Given the description of an element on the screen output the (x, y) to click on. 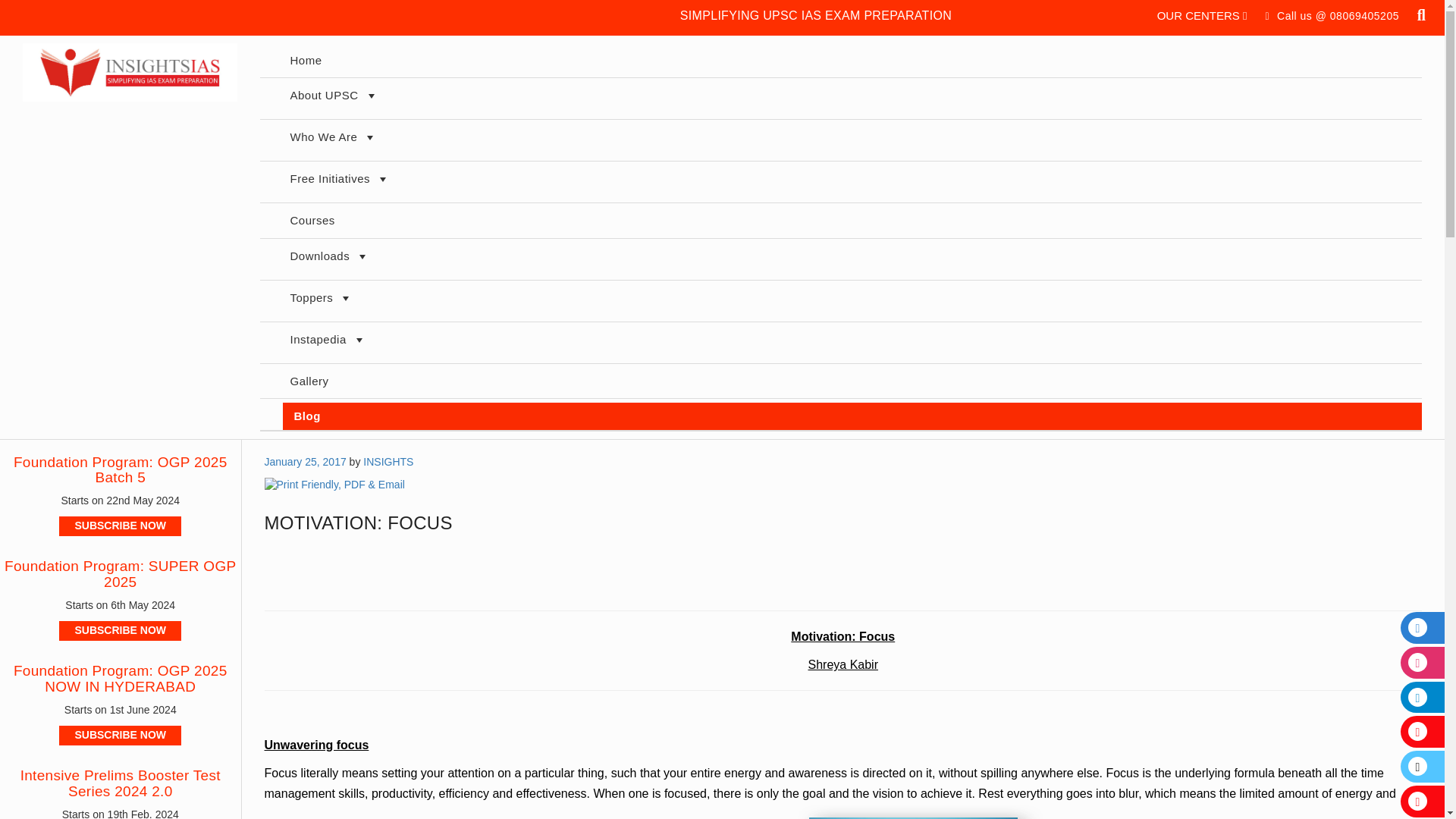
08069405205 (1364, 15)
OUR CENTERS (1202, 15)
About UPSC (851, 97)
Home (851, 60)
Who We Are (851, 139)
